Given the description of an element on the screen output the (x, y) to click on. 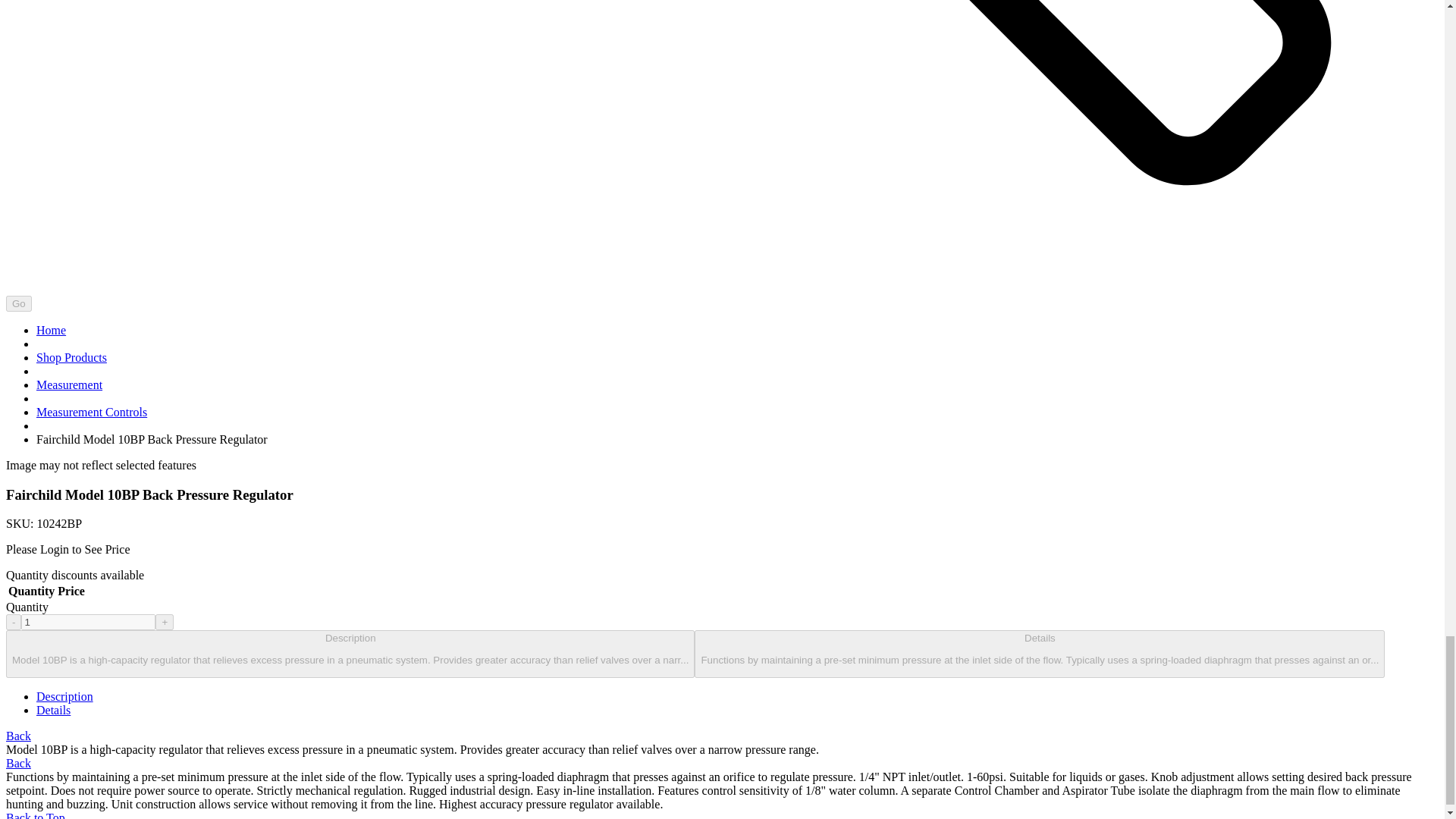
Measurement (68, 384)
- (13, 621)
Quantity discounts available (74, 574)
Shop Products (71, 357)
Home (50, 329)
Measurement Controls (91, 411)
1 (88, 621)
Go (18, 303)
